Given the description of an element on the screen output the (x, y) to click on. 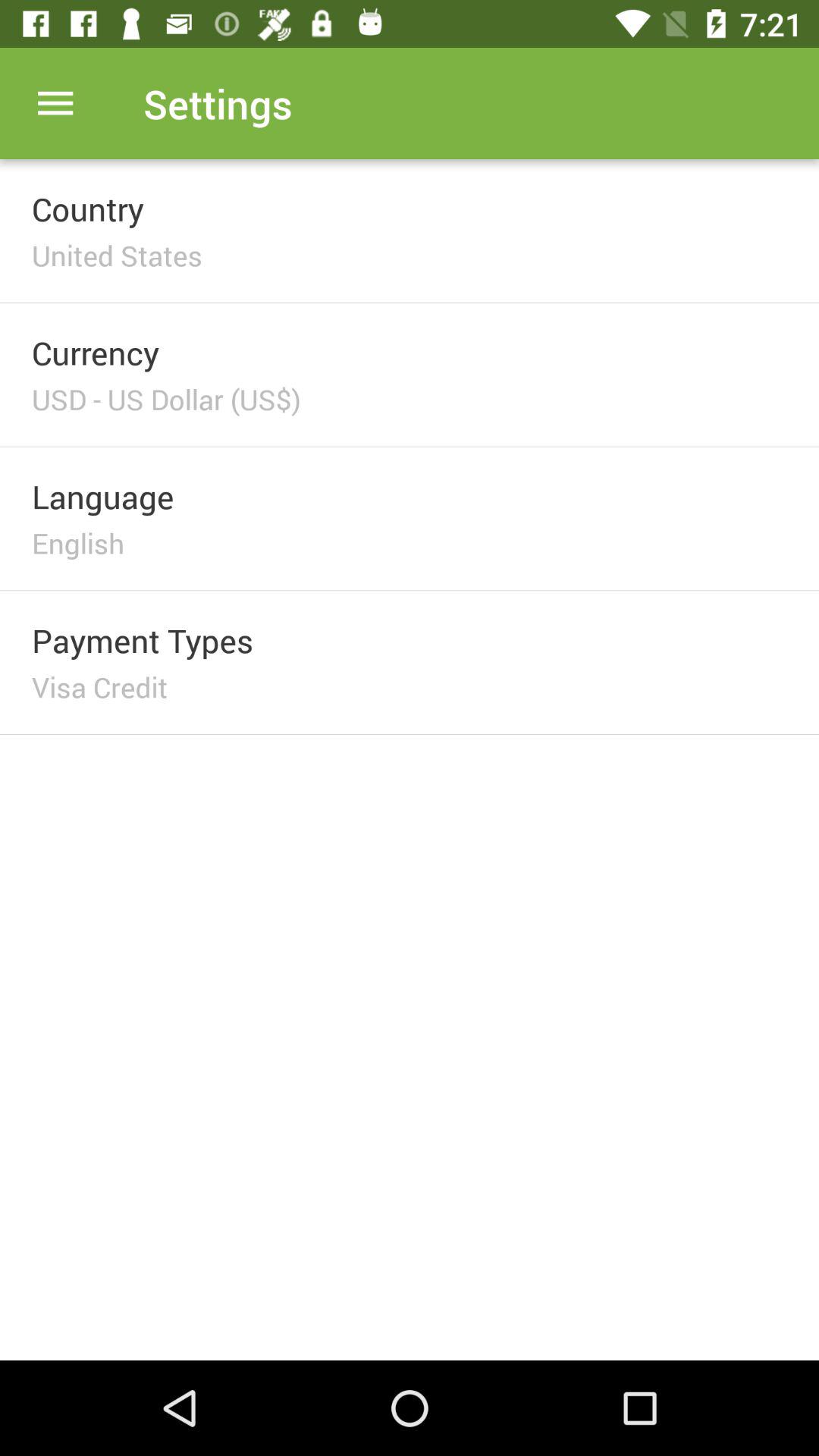
gives more options for actions (55, 103)
